Given the description of an element on the screen output the (x, y) to click on. 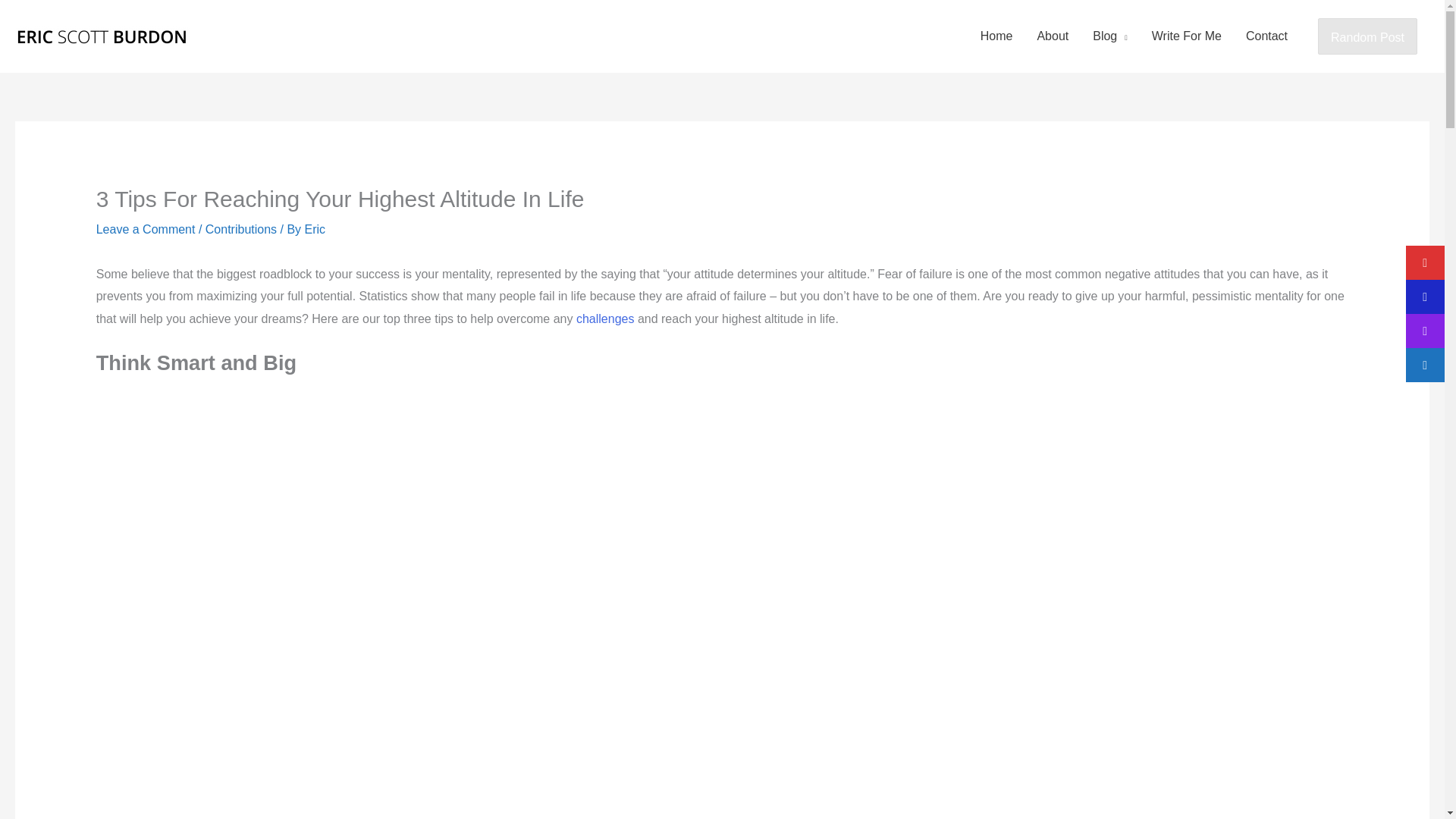
Leave a Comment (145, 228)
About (1052, 36)
Write For Me (1186, 36)
Blog (1110, 36)
Contact (1266, 36)
Random Post (1366, 36)
Home (996, 36)
View all posts by Eric (315, 228)
challenges (605, 318)
Eric (315, 228)
Contributions (240, 228)
